Given the description of an element on the screen output the (x, y) to click on. 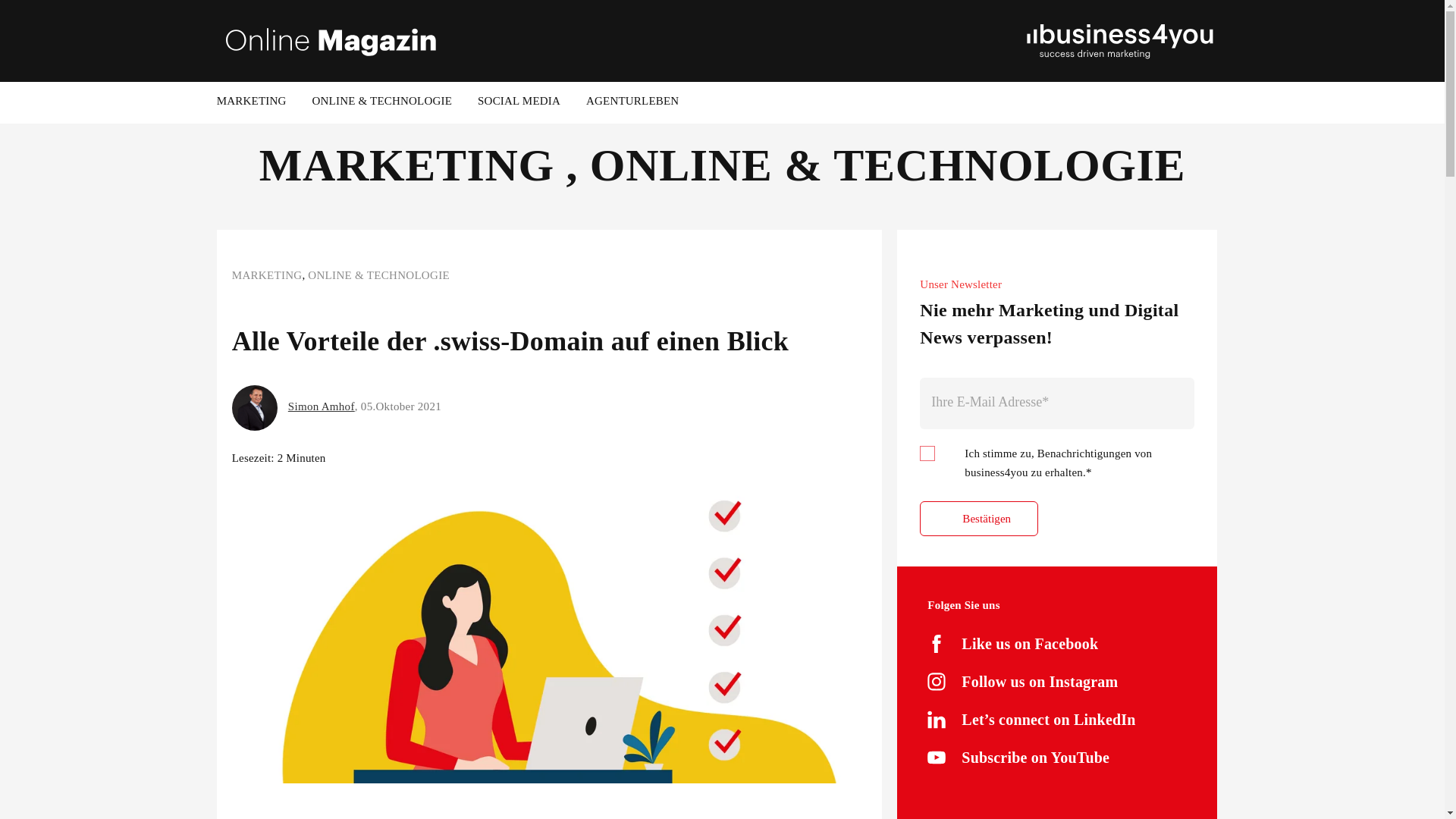
b4you_Logo_2019_Negativ Element type: hover (1123, 40)
Like us on Facebook Element type: text (1029, 643)
MARKETING Element type: text (251, 102)
Simon Amhof Element type: text (321, 406)
Logo Online Magazin weiss Element type: hover (330, 40)
SOCIAL MEDIA Element type: text (518, 102)
ONLINE & TECHNOLOGIE Element type: text (378, 274)
ONLINE & TECHNOLOGIE Element type: text (382, 102)
AGENTURLEBEN Element type: text (632, 102)
Subscribe on YouTube Element type: text (1035, 757)
Follow us on Instagram Element type: text (1039, 681)
MARKETING Element type: text (267, 274)
